Given the description of an element on the screen output the (x, y) to click on. 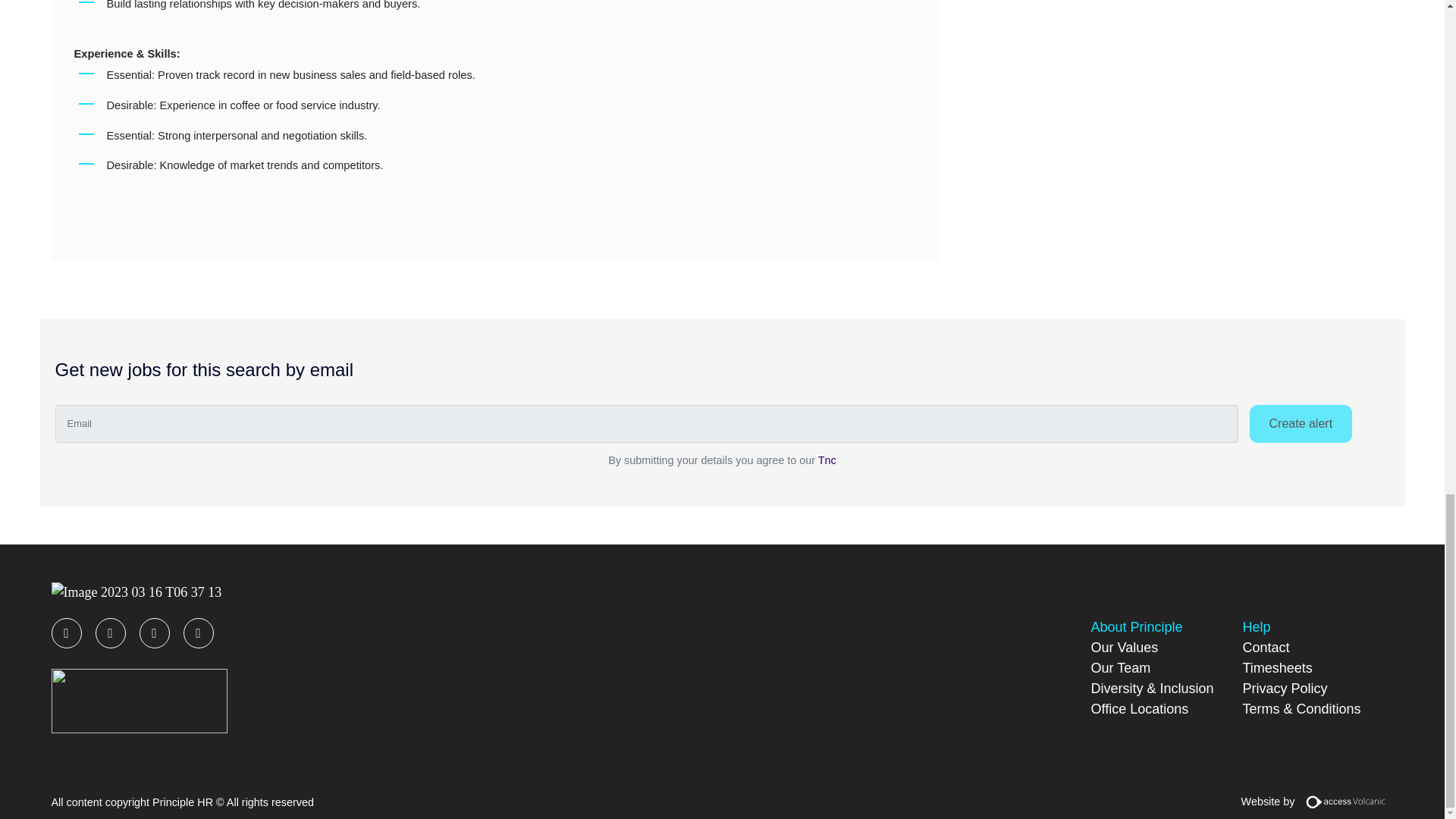
Timesheets (1276, 667)
Help (1255, 626)
Create alert (1300, 423)
Our Team (1120, 667)
Contact (1264, 647)
Office Locations (1139, 708)
Our Values (1123, 647)
Tnc (826, 460)
